Given the description of an element on the screen output the (x, y) to click on. 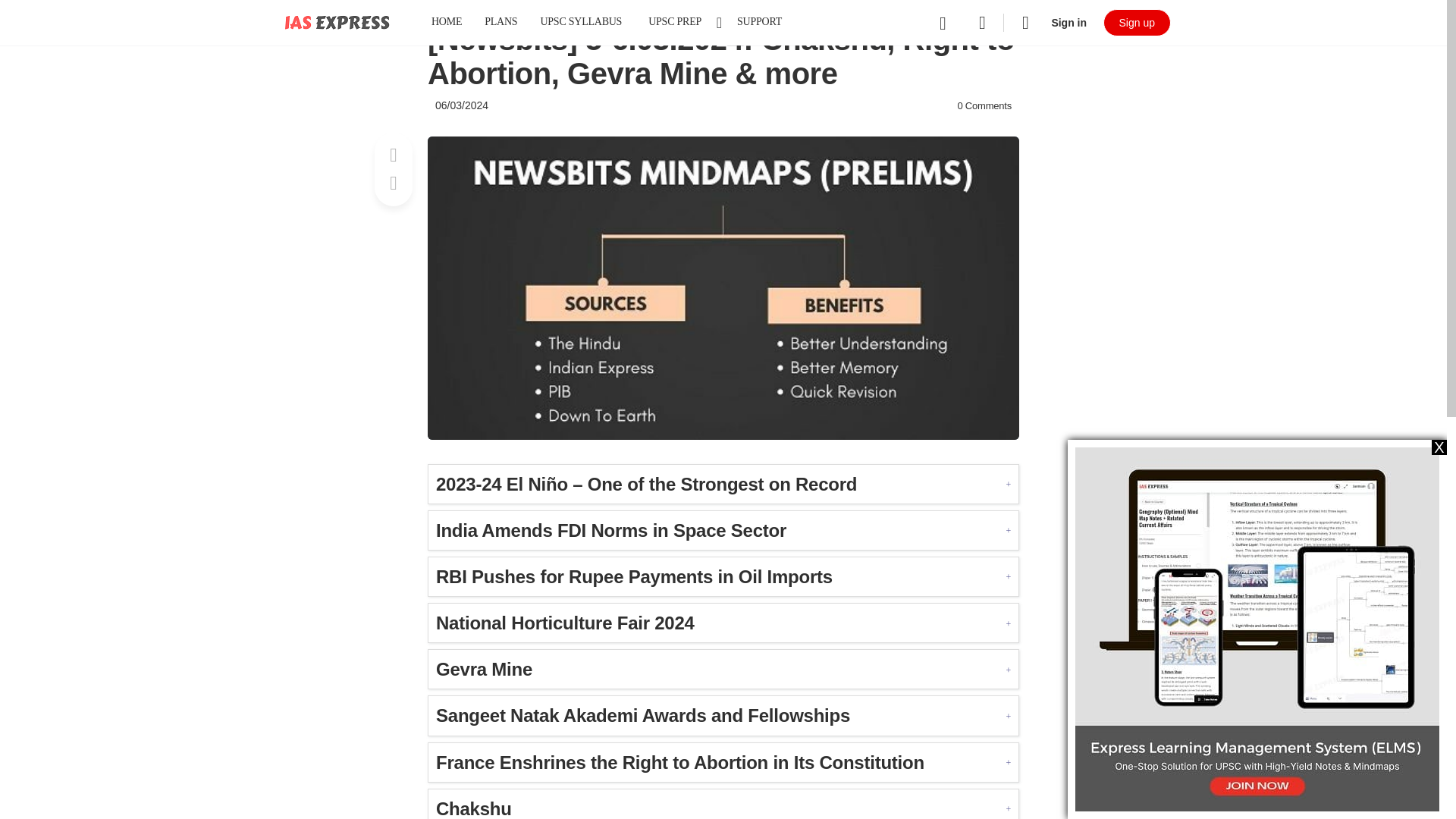
UPSC SYLLABUS (580, 22)
UPSC PREP (681, 22)
HOME (445, 22)
PLANS (500, 22)
